Given the description of an element on the screen output the (x, y) to click on. 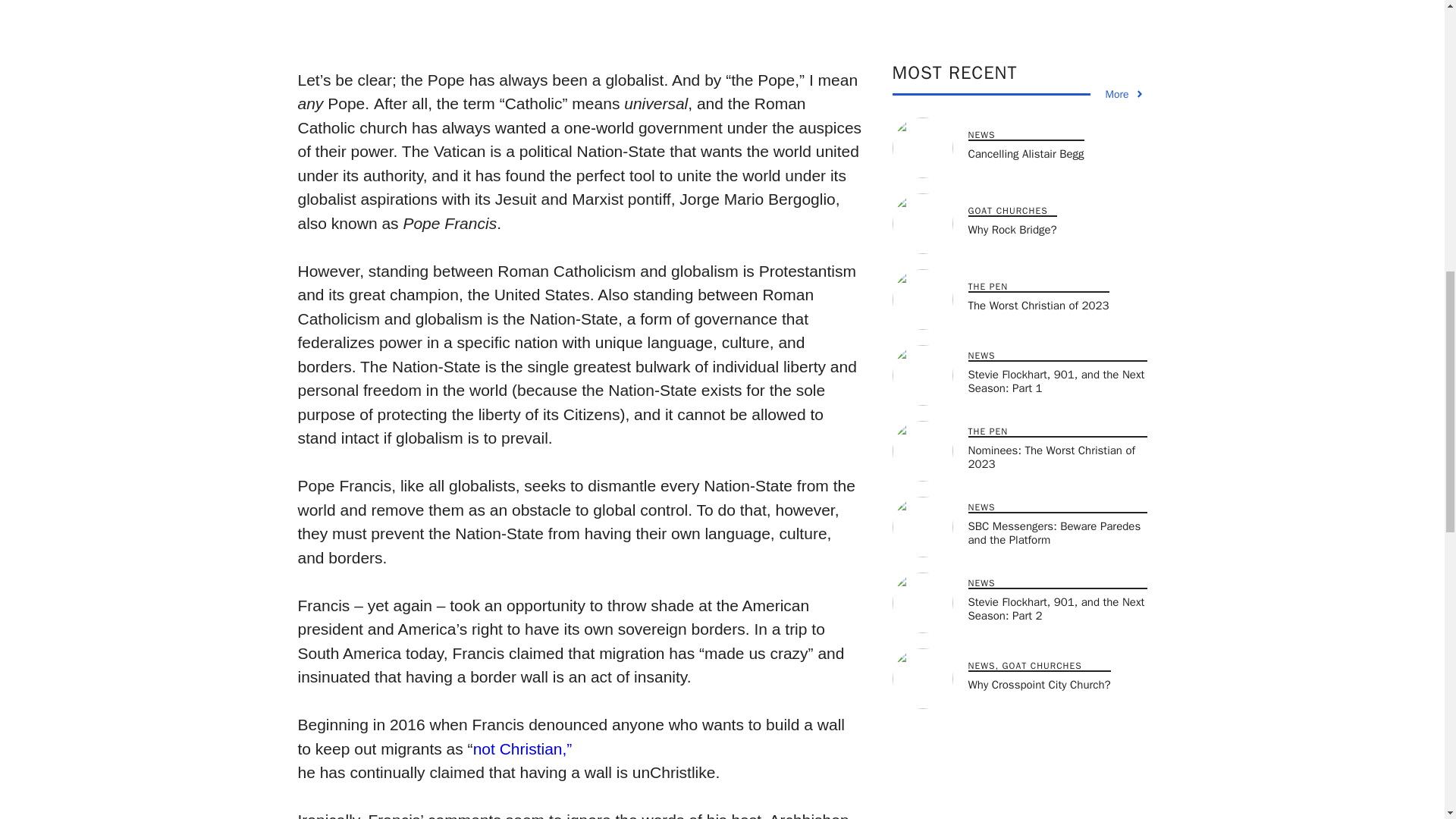
Stevie Flockhart, 901, and the Next Season: Part 1 (1056, 13)
Stevie Flockhart, 901, and the Next Season: Part 2 (1056, 239)
SBC Messengers: Beware Paredes and the Platform (1054, 164)
Nominees: The Worst Christian of 2023 (1051, 88)
